Given the description of an element on the screen output the (x, y) to click on. 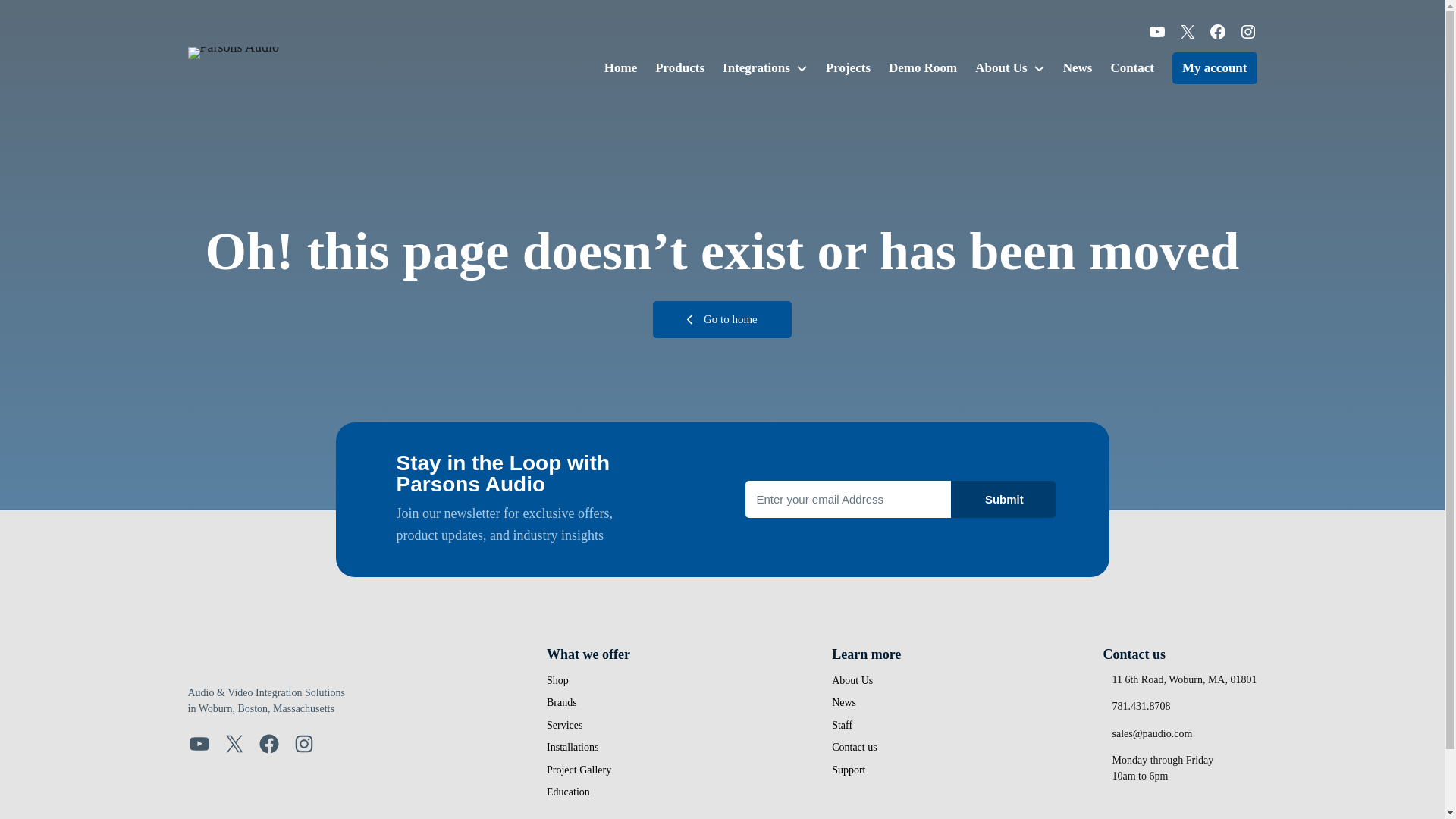
Integrations (756, 67)
My account (1214, 67)
Contact (1131, 67)
Home (620, 67)
About Us (1001, 67)
Products (679, 67)
Go to home (722, 319)
News (1077, 67)
Projects (847, 67)
Demo Room (922, 67)
